Given the description of an element on the screen output the (x, y) to click on. 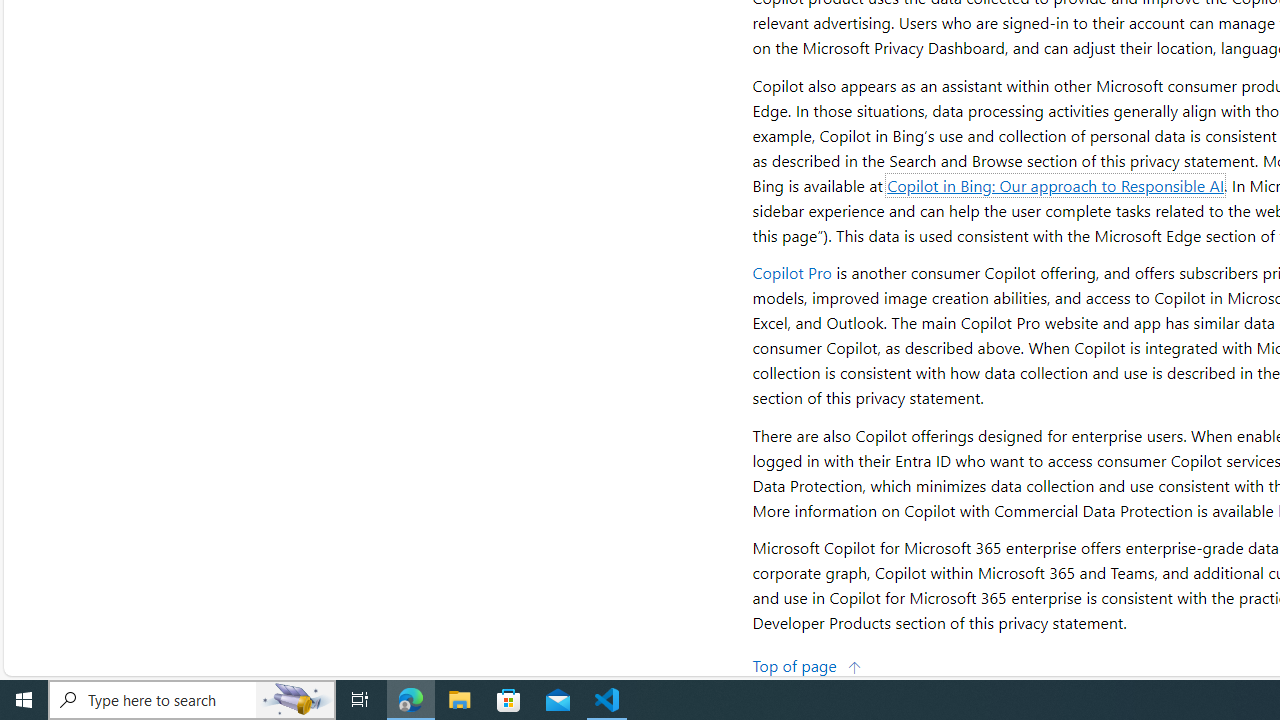
Top of page (807, 664)
Copilot Pro (792, 272)
Copilot in Bing: Our approach to Responsible AI (1055, 184)
